Given the description of an element on the screen output the (x, y) to click on. 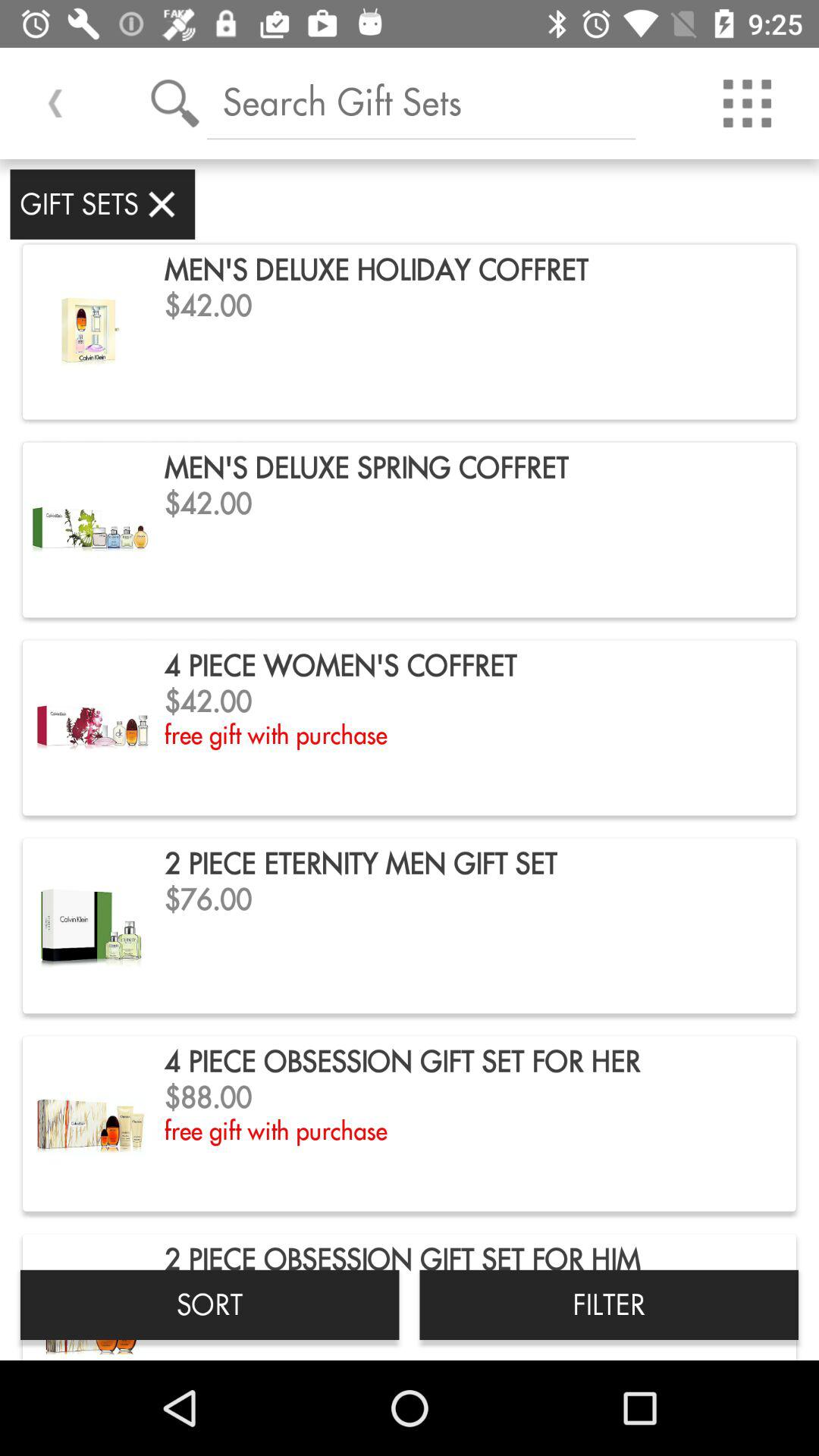
click icon at the top right corner (747, 103)
